Given the description of an element on the screen output the (x, y) to click on. 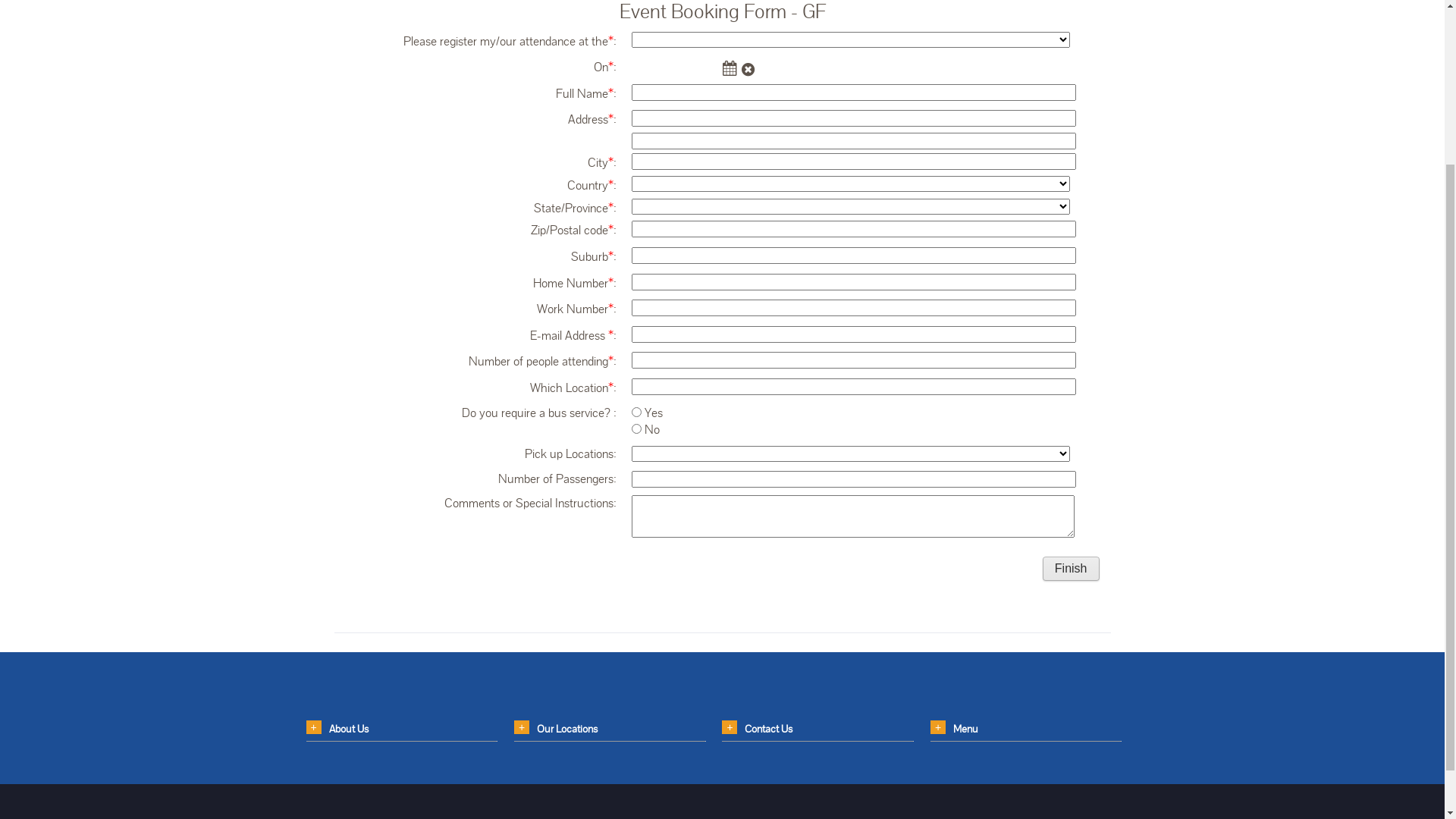
Blog Element type: text (332, 179)
Brochures Element type: text (1051, 149)
Events Element type: text (982, 149)
Testimonials Element type: text (632, 149)
Privacy Policy Element type: text (540, 149)
About Glen Funerals Element type: text (428, 149)
Contact Element type: text (389, 179)
1800 260 444  (24 Hours) Element type: text (1300, 56)
Arranging A Funeral Element type: text (739, 149)
Information & Resources Element type: text (877, 149)
contactus@glenfunerals.com.au Element type: text (1318, 72)
Home Element type: text (336, 149)
